Given the description of an element on the screen output the (x, y) to click on. 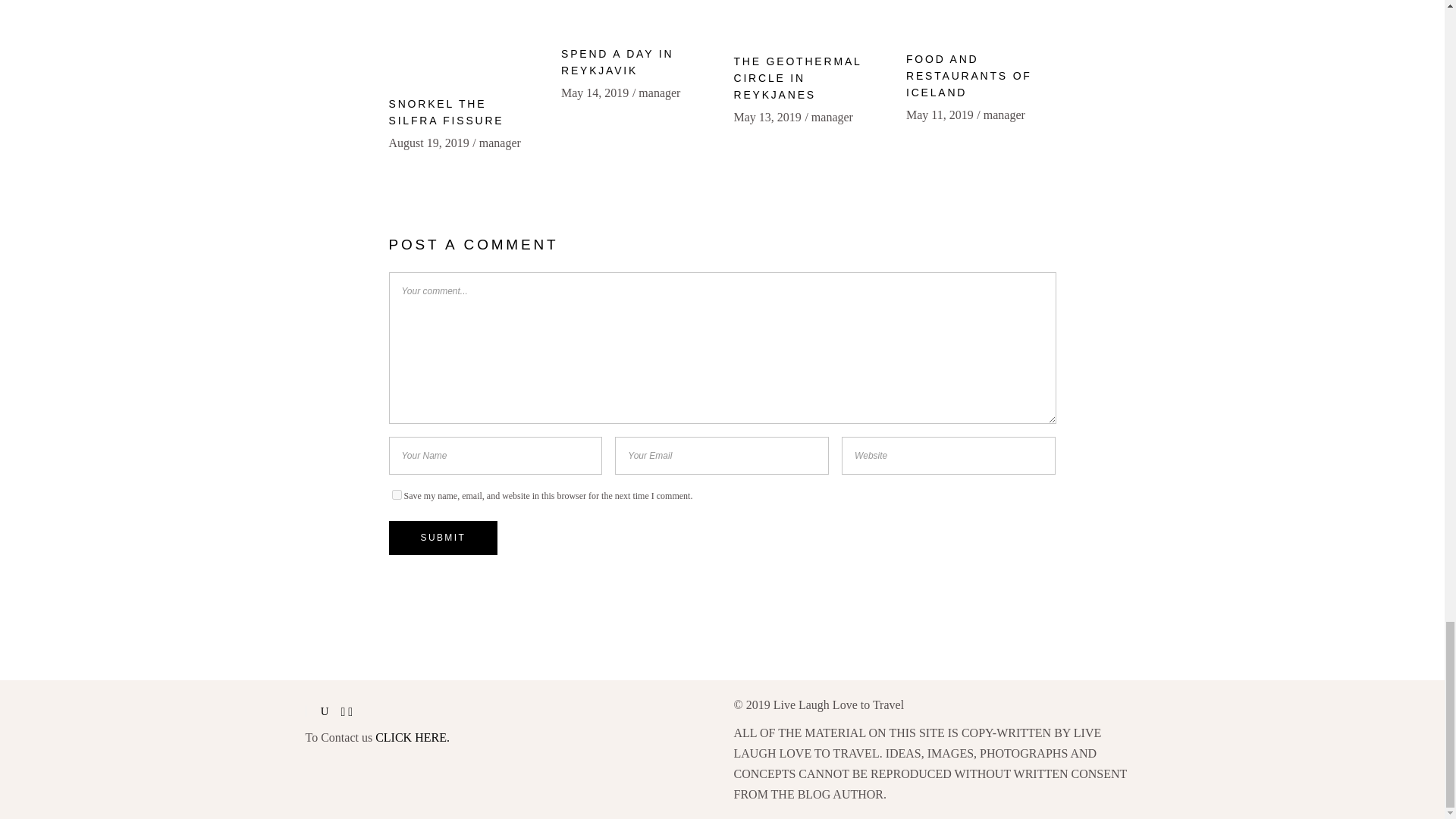
SNORKEL THE SILFRA FISSURE (445, 111)
Submit (442, 537)
The Geothermal Circle in Reykjanes (808, 19)
Snorkel the Silfra Fissure (463, 40)
Food and Restaurants of Iceland (981, 18)
Food and Restaurants of Iceland (968, 75)
Snorkel the Silfra Fissure (445, 111)
Spend a Day in Reykjavik (635, 15)
yes (396, 494)
Spend a Day in Reykjavik (616, 61)
The Geothermal Circle in Reykjanes (797, 77)
